Given the description of an element on the screen output the (x, y) to click on. 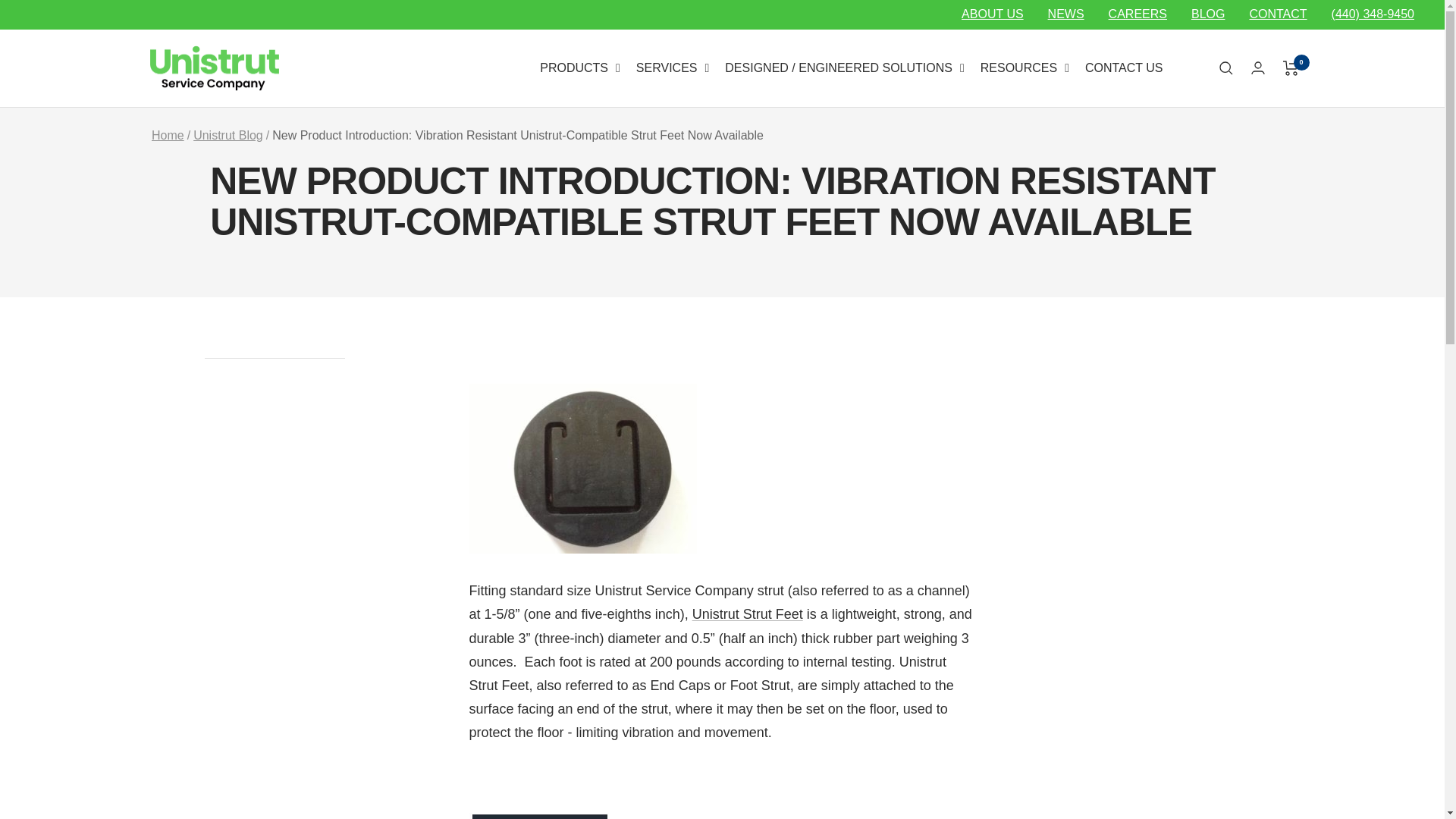
NEWS (1066, 14)
PRODUCTS (579, 68)
ABOUT US (991, 14)
CONTACT (1277, 14)
PRODUCTS (579, 68)
CAREERS (1137, 14)
BLOG (1207, 14)
